Given the description of an element on the screen output the (x, y) to click on. 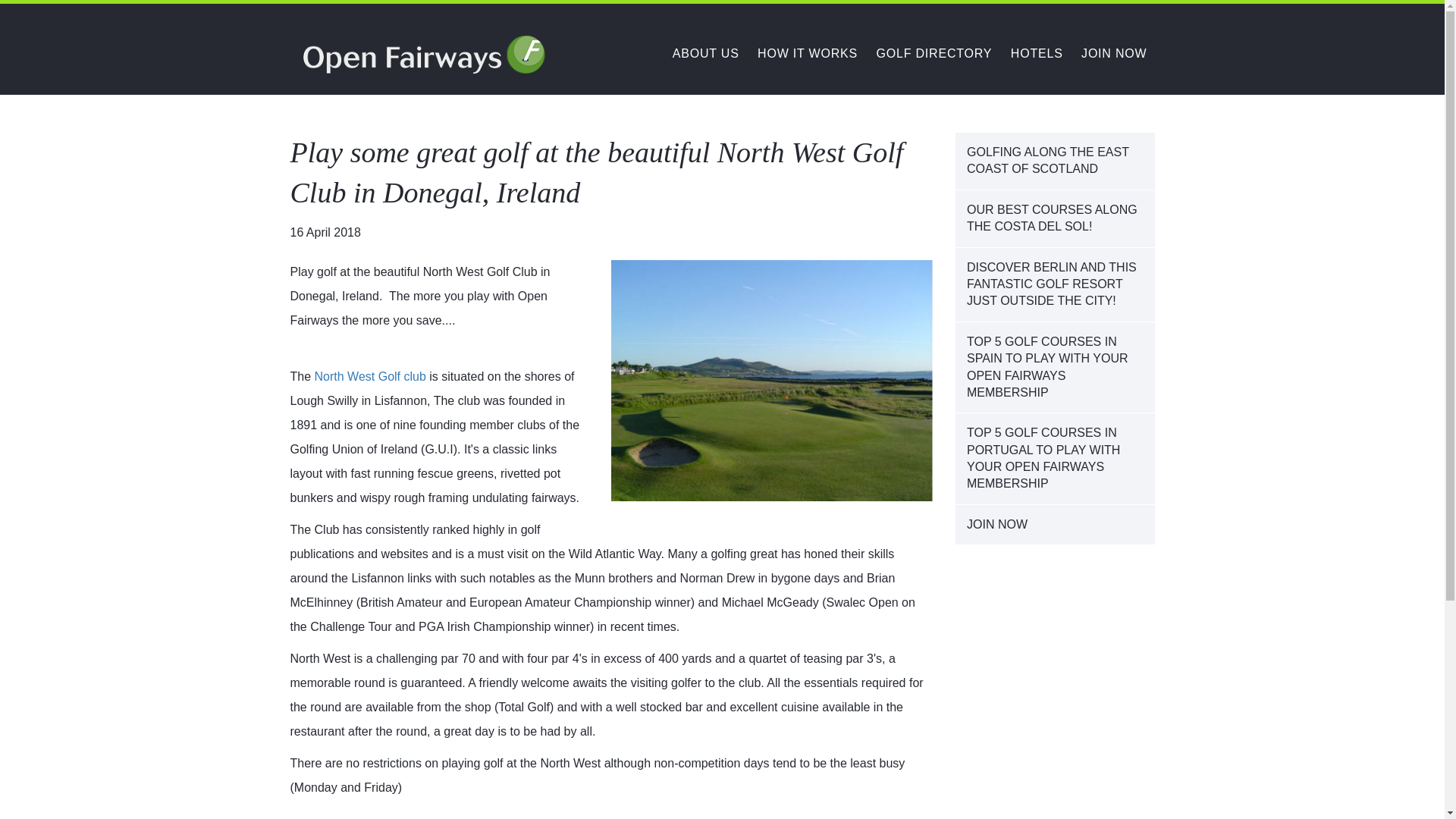
Link to how it works (807, 52)
Link to join now (1114, 52)
GOLFING ALONG THE EAST COAST OF SCOTLAND (1054, 160)
HOW IT WORKS (807, 52)
GOLF DIRECTORY (933, 52)
North West Golf club (370, 376)
ABOUT US (705, 52)
JOIN NOW (1114, 52)
OUR BEST COURSES ALONG THE COSTA DEL SOL! (1054, 218)
